Given the description of an element on the screen output the (x, y) to click on. 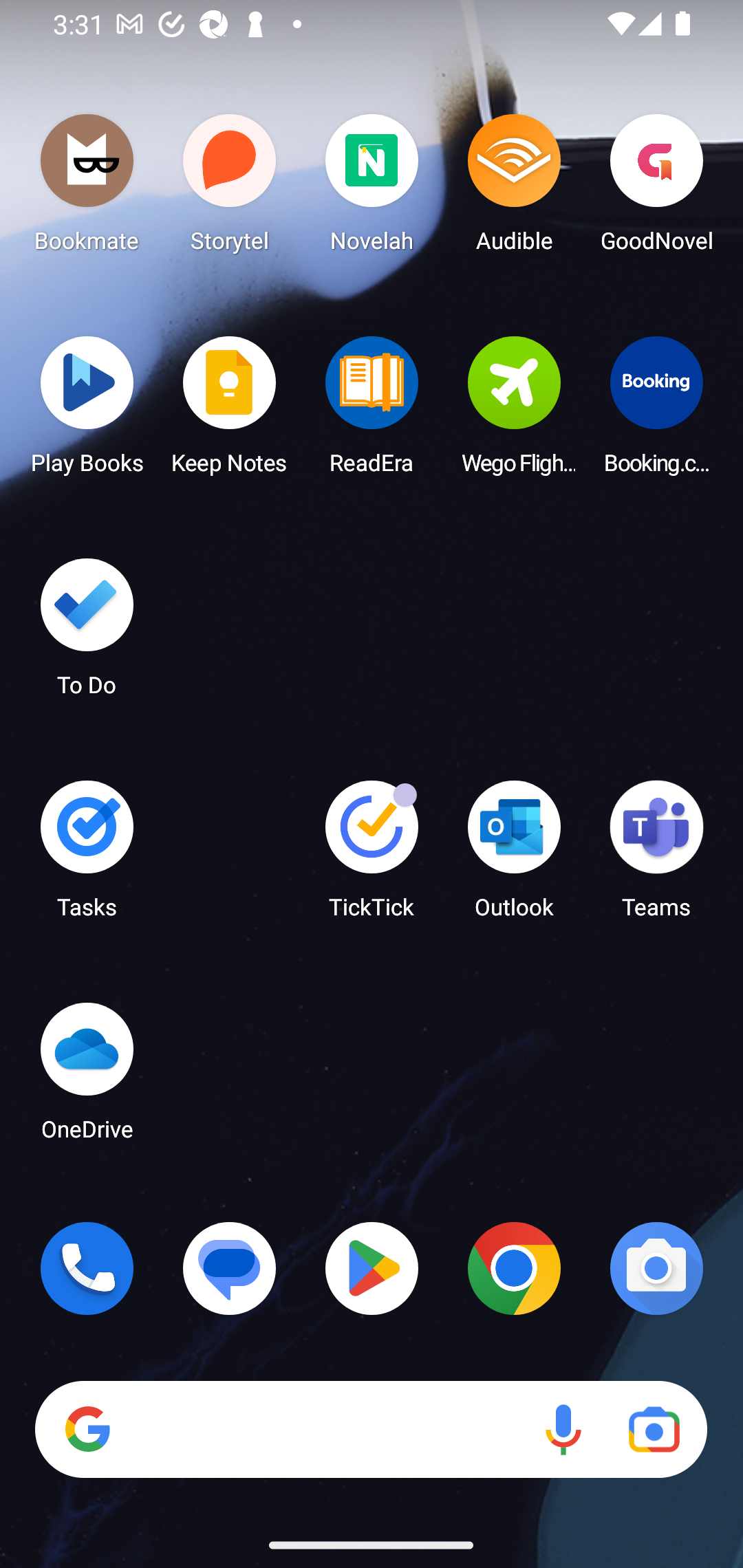
Bookmate (86, 188)
Storytel (229, 188)
Novelah (371, 188)
Audible (513, 188)
GoodNovel (656, 188)
Play Books (86, 410)
Keep Notes (229, 410)
ReadEra (371, 410)
Wego Flights & Hotels (513, 410)
Booking.com (656, 410)
To Do (86, 633)
Tasks (86, 854)
TickTick TickTick has 3 notifications (371, 854)
Outlook (513, 854)
Teams (656, 854)
OneDrive (86, 1076)
Phone (86, 1268)
Messages (229, 1268)
Play Store (371, 1268)
Chrome (513, 1268)
Camera (656, 1268)
Search Voice search Google Lens (370, 1429)
Voice search (562, 1429)
Google Lens (653, 1429)
